Given the description of an element on the screen output the (x, y) to click on. 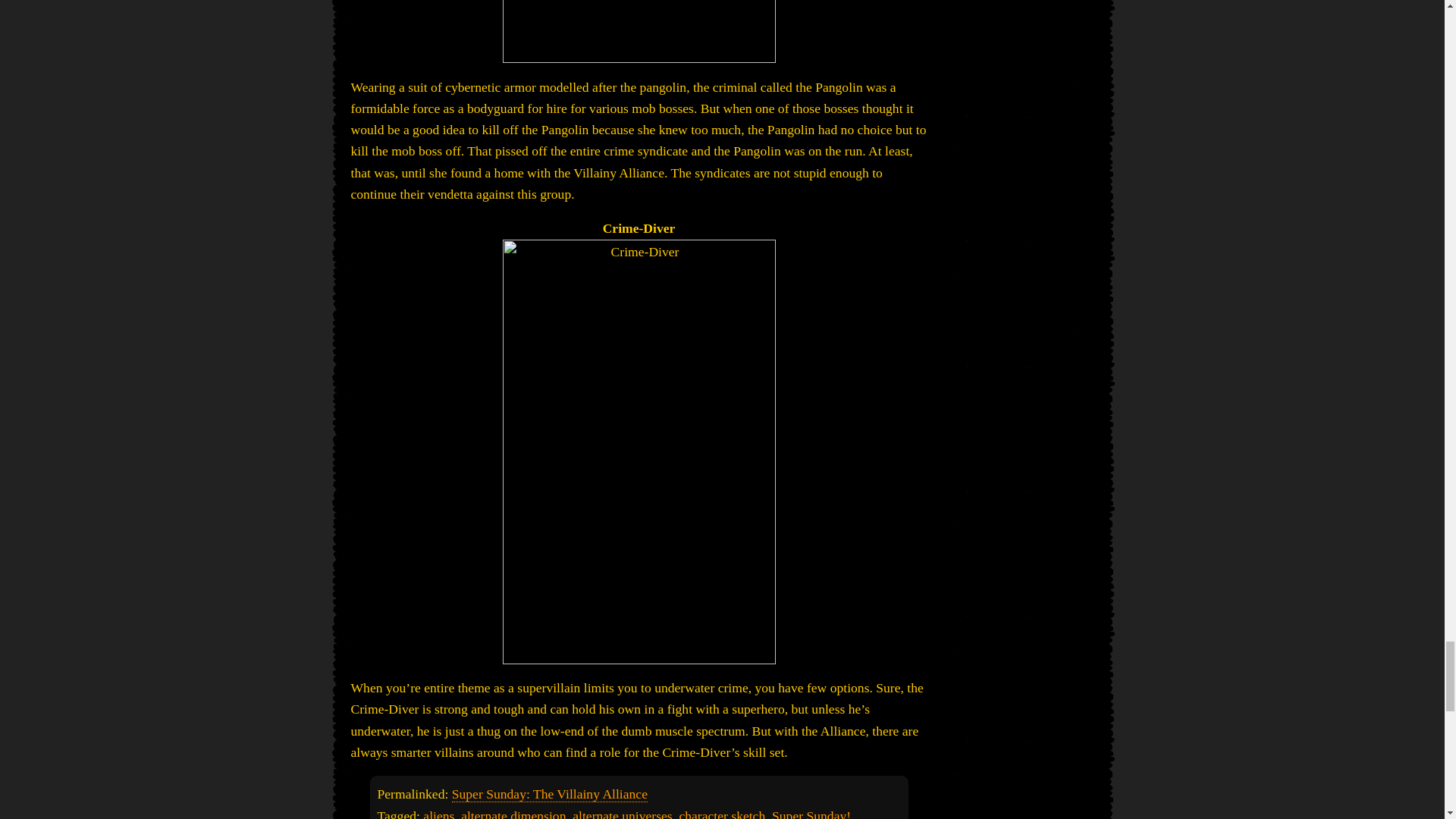
alternate dimension (513, 813)
Super Sunday: The Villainy Alliance (549, 794)
aliens (438, 813)
Super Sunday! (810, 813)
alternate universes (621, 813)
character sketch (721, 813)
Pangolin (638, 31)
